Given the description of an element on the screen output the (x, y) to click on. 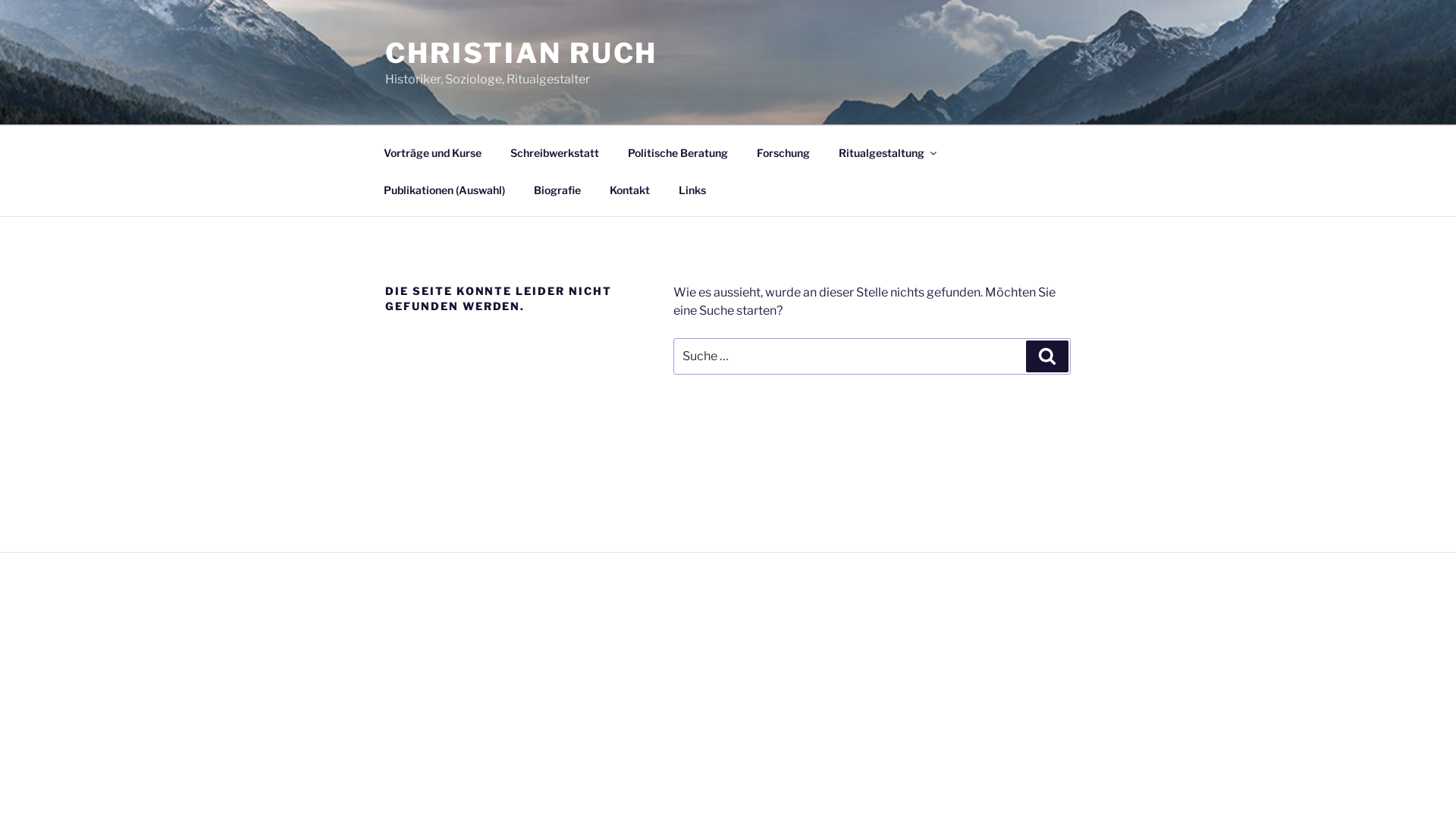
Forschung Element type: text (782, 151)
Publikationen (Auswahl) Element type: text (443, 189)
Kontakt Element type: text (629, 189)
Links Element type: text (691, 189)
Ritualgestaltung Element type: text (886, 151)
Schreibwerkstatt Element type: text (553, 151)
CHRISTIAN RUCH Element type: text (521, 52)
Biografie Element type: text (556, 189)
Suche Element type: text (1047, 356)
Politische Beratung Element type: text (677, 151)
